Given the description of an element on the screen output the (x, y) to click on. 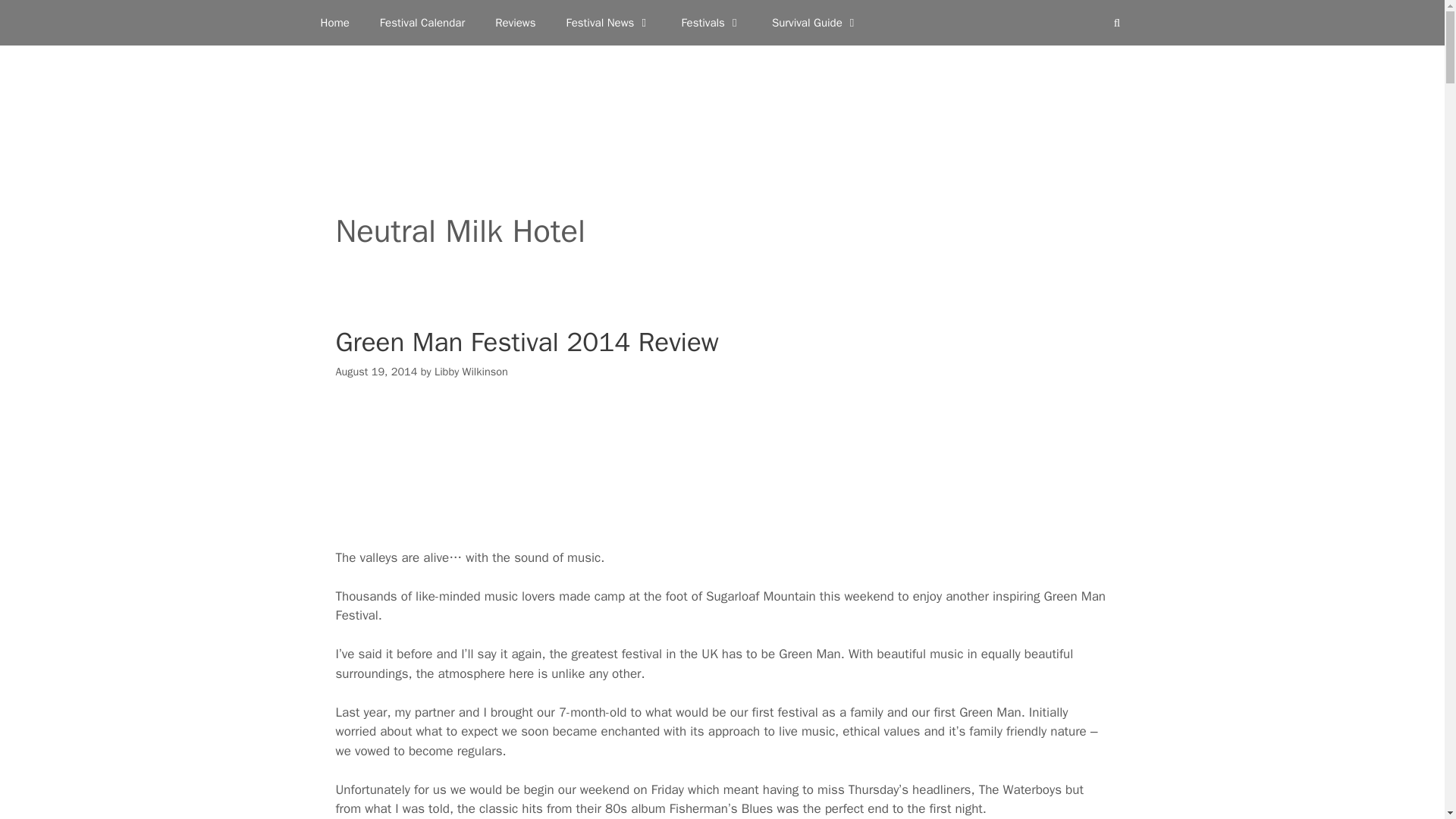
Reviews (515, 22)
Festival Calendar (422, 22)
Survival Guide (816, 22)
Green Man Festival 2014 Review (525, 341)
View all posts by Libby Wilkinson (470, 371)
Festivals (711, 22)
Libby Wilkinson (470, 371)
Home (334, 22)
Festival News (607, 22)
